Given the description of an element on the screen output the (x, y) to click on. 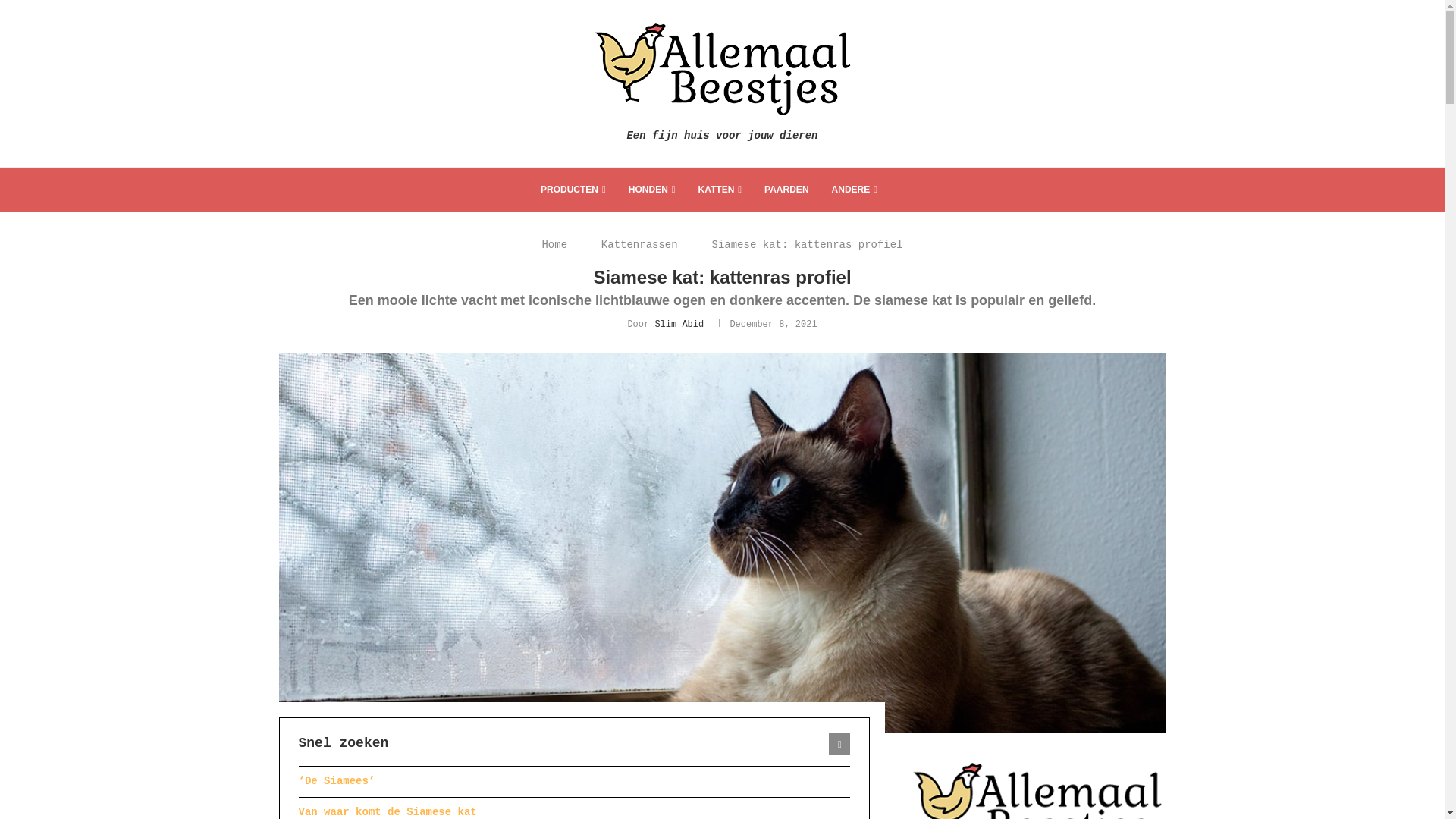
PRODUCTEN Element type: text (572, 189)
ANDERE Element type: text (854, 189)
Kattenrassen Element type: text (639, 244)
PAARDEN Element type: text (786, 189)
Home Element type: text (554, 244)
HONDEN Element type: text (651, 189)
KATTEN Element type: text (720, 189)
Slim Abid Element type: text (678, 324)
